Given the description of an element on the screen output the (x, y) to click on. 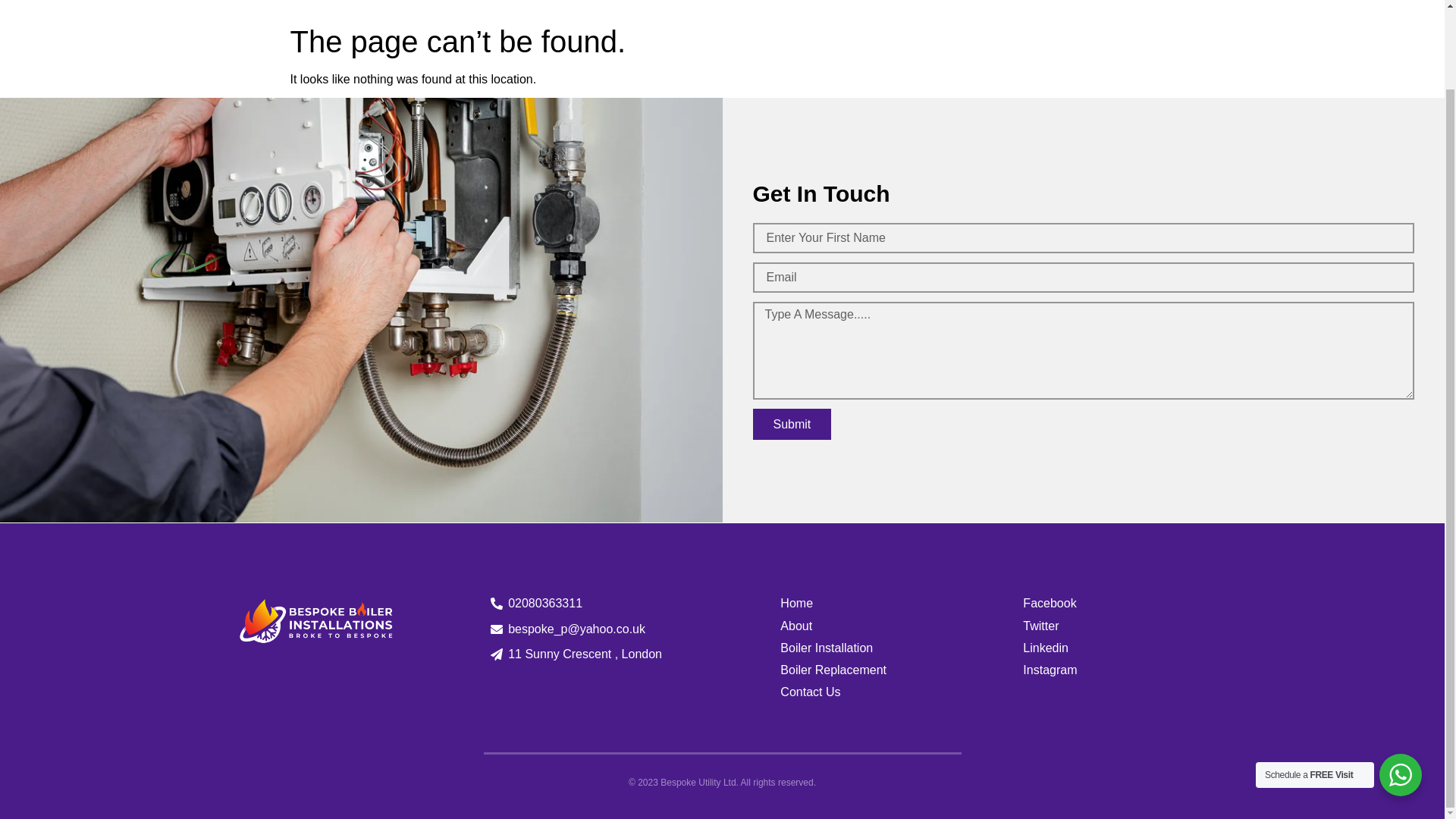
Contact Us (901, 691)
Home (917, 1)
02080363311 (584, 603)
About (901, 626)
Boiler Installation (901, 647)
About Us (987, 1)
Facebook (1115, 603)
Boiler Replacement (901, 669)
Services (1071, 1)
Contact Us (1158, 1)
Submit (791, 423)
11 Sunny Crescent , London (584, 653)
Home (901, 603)
